Given the description of an element on the screen output the (x, y) to click on. 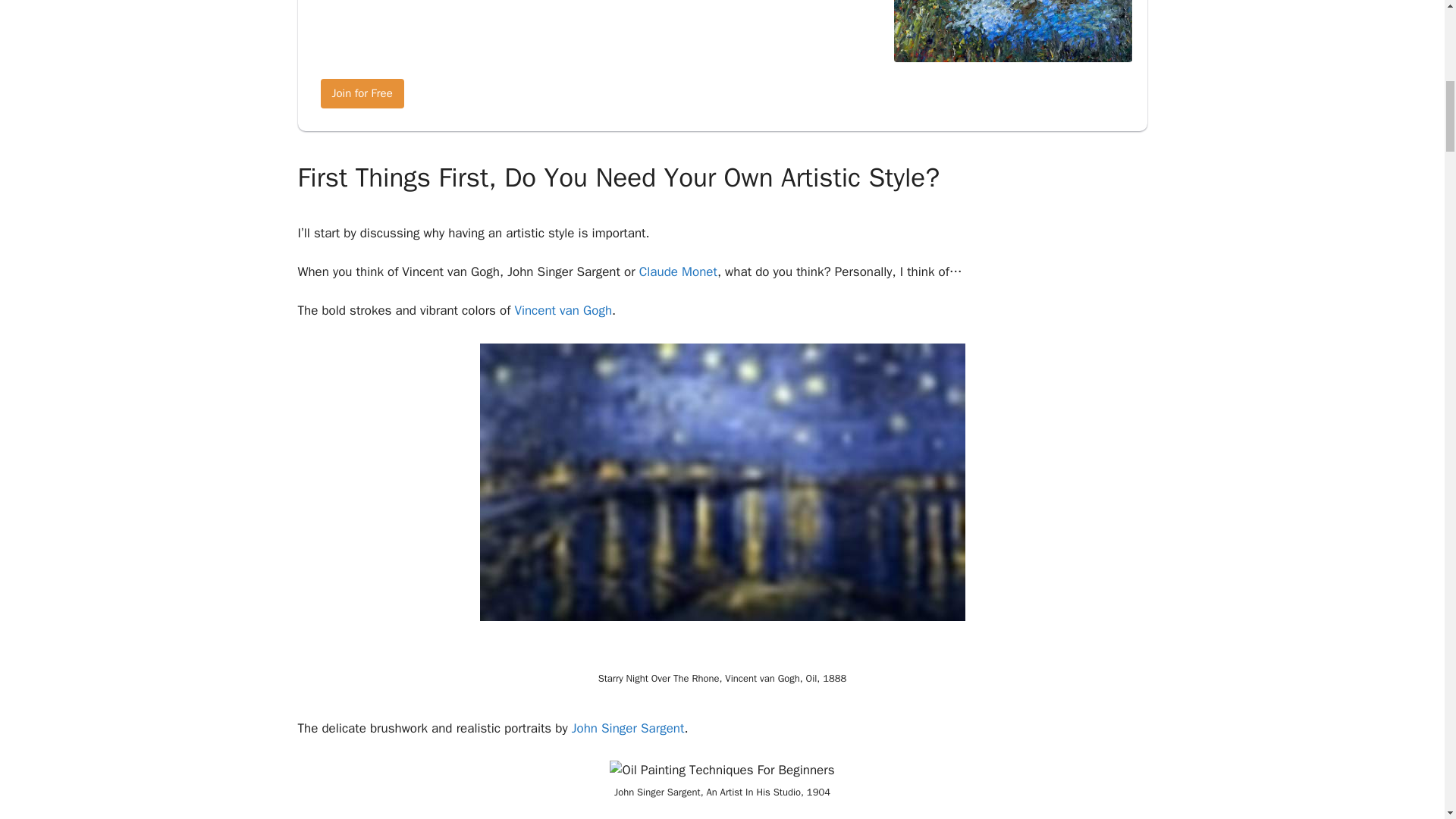
John Singer Sargent, An Artist In His Studio, 1904 (722, 770)
Claude Monet (678, 271)
Vincent van Gogh (562, 310)
Join for Free (361, 93)
John Singer Sargent (628, 728)
